Given the description of an element on the screen output the (x, y) to click on. 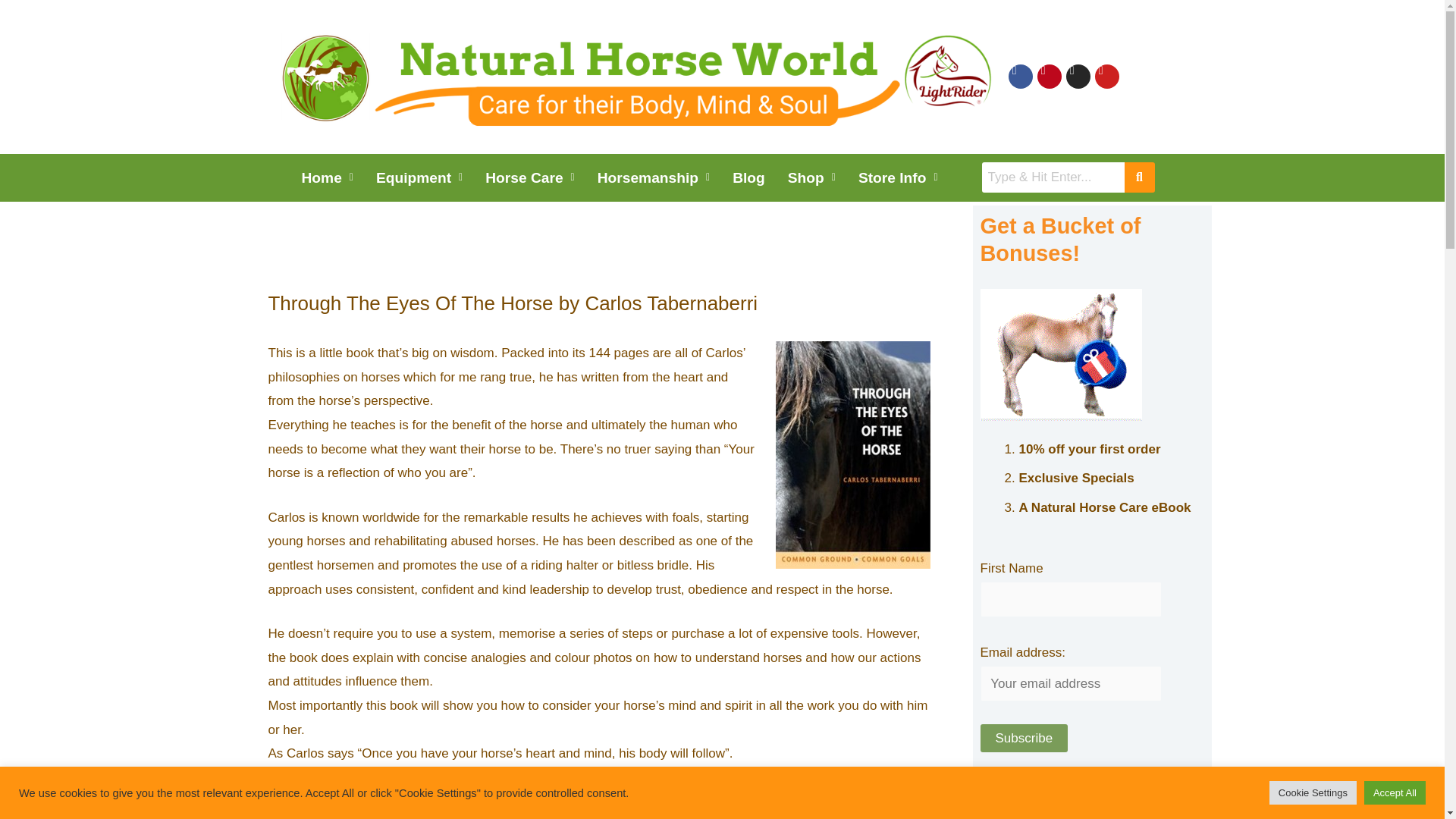
Home (326, 177)
Pinterest (1048, 76)
Horsemanship (653, 177)
Instagram (1077, 76)
Search (1052, 177)
Equipment (419, 177)
Youtube (1106, 76)
Horse Care (530, 177)
Subscribe (1023, 737)
Facebook (1020, 76)
